Given the description of an element on the screen output the (x, y) to click on. 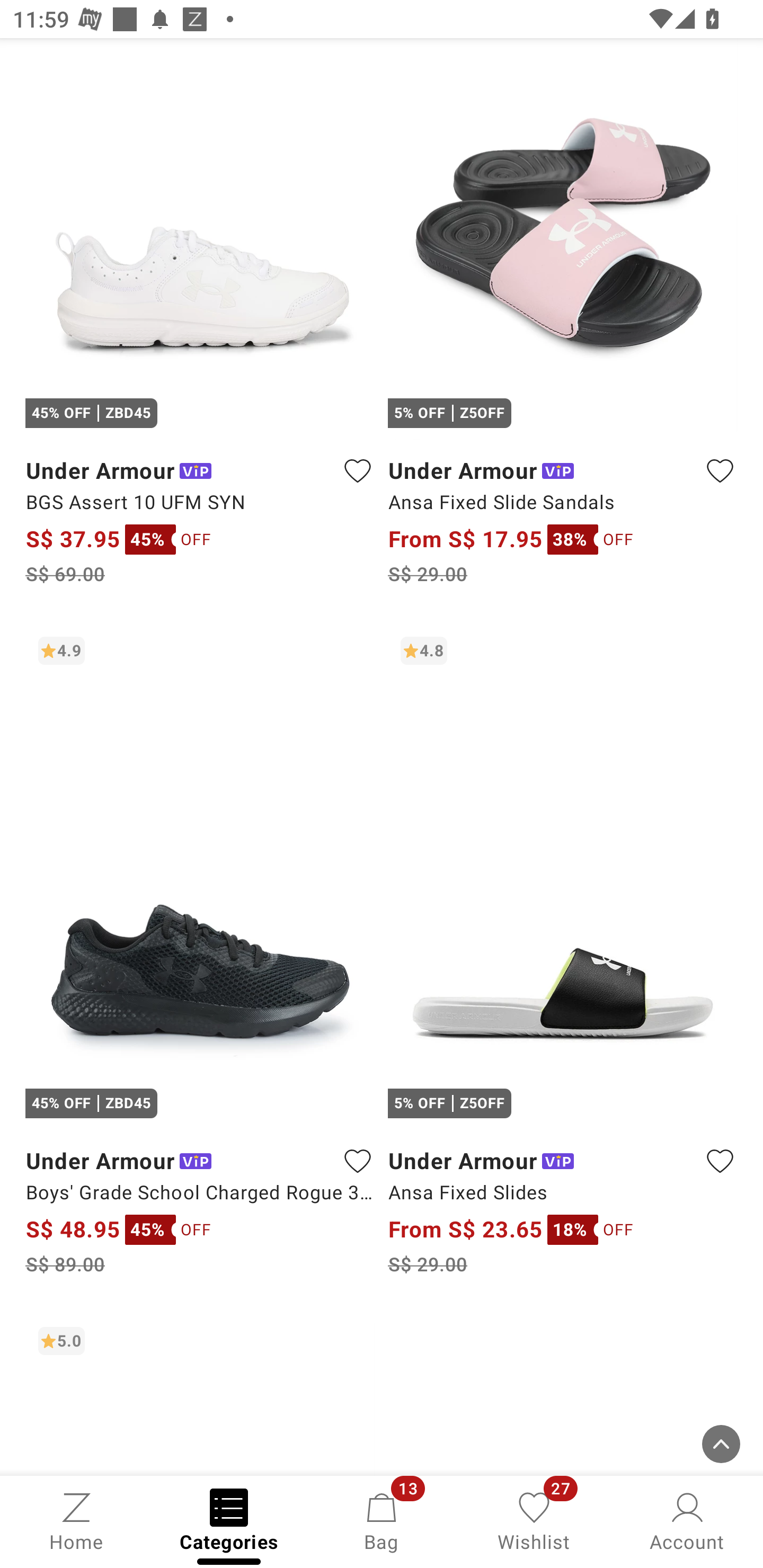
Home (76, 1519)
Bag, 13 new notifications Bag (381, 1519)
Wishlist, 27 new notifications Wishlist (533, 1519)
Account (686, 1519)
